Given the description of an element on the screen output the (x, y) to click on. 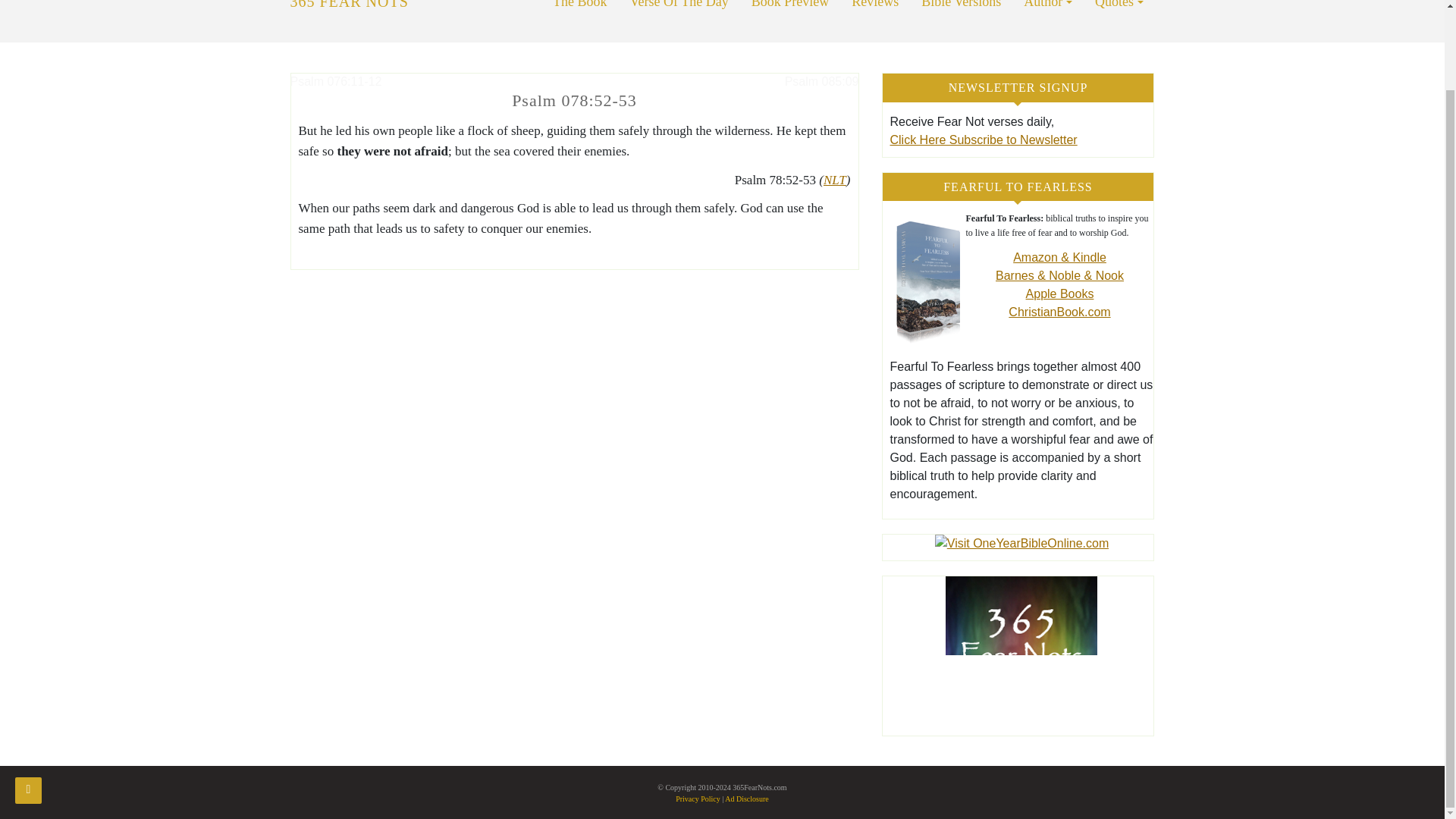
Psalm 085:09 (821, 81)
The Book (579, 21)
Biblical Truths Preview (790, 21)
Apple Books (1060, 293)
Bible Versions (960, 21)
Psalm 076:11-12 (335, 81)
Quotes (1118, 21)
365 Fear Nots: Verse Of The Day (678, 21)
Bible Versions (960, 21)
Reviews (875, 21)
